Given the description of an element on the screen output the (x, y) to click on. 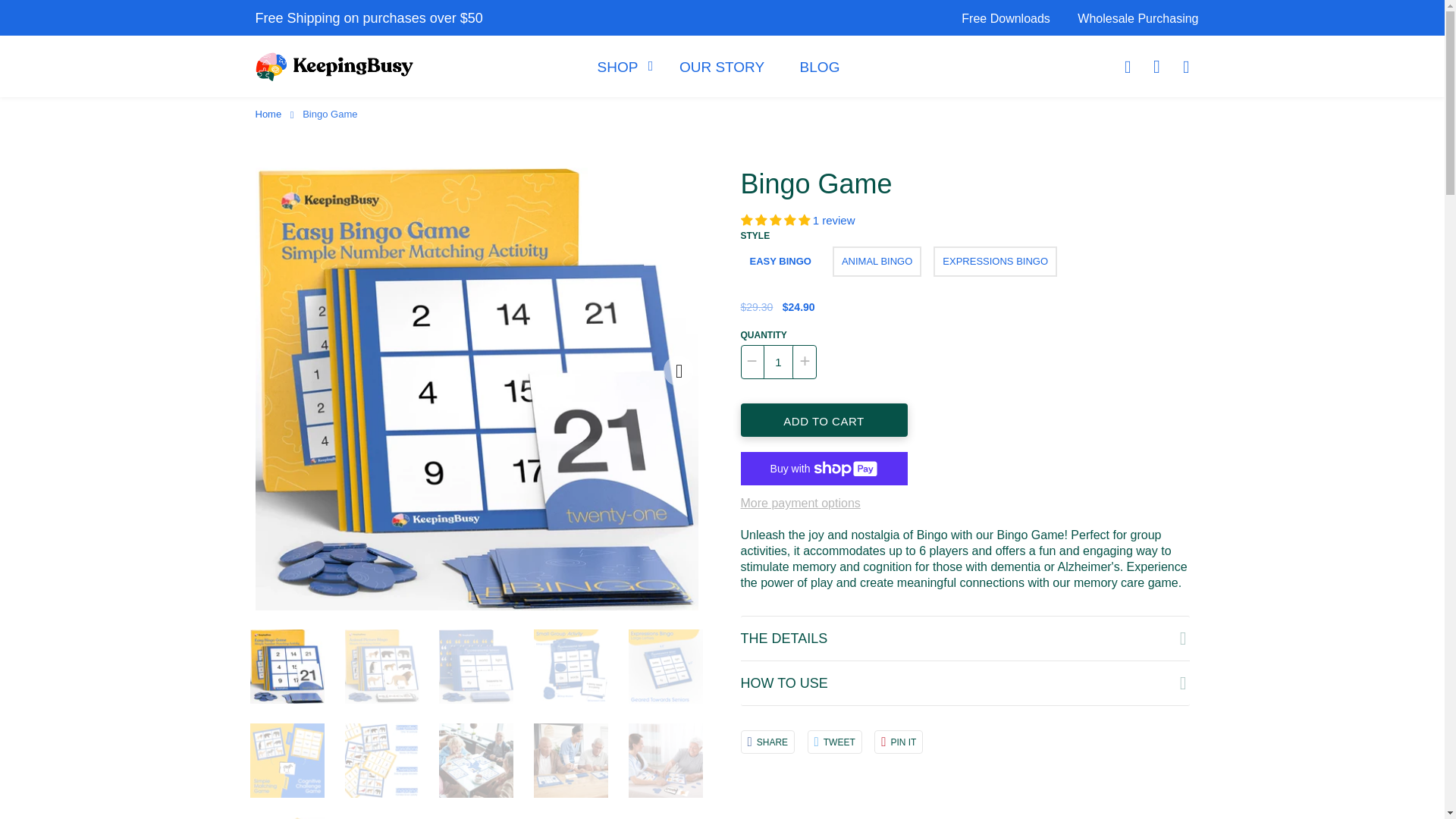
Share on Facebook (766, 741)
Our Story (721, 66)
Shop (620, 66)
Share on Pinterest (899, 741)
1 (777, 361)
BLOG (819, 66)
OUR STORY (721, 66)
Next (677, 370)
Keeping Busy (333, 66)
Wholesale Purchasing (1131, 18)
Blog (819, 66)
Share on Twitter (834, 741)
Back to the home page (268, 114)
Free Downloads (1005, 18)
Home (268, 114)
